Given the description of an element on the screen output the (x, y) to click on. 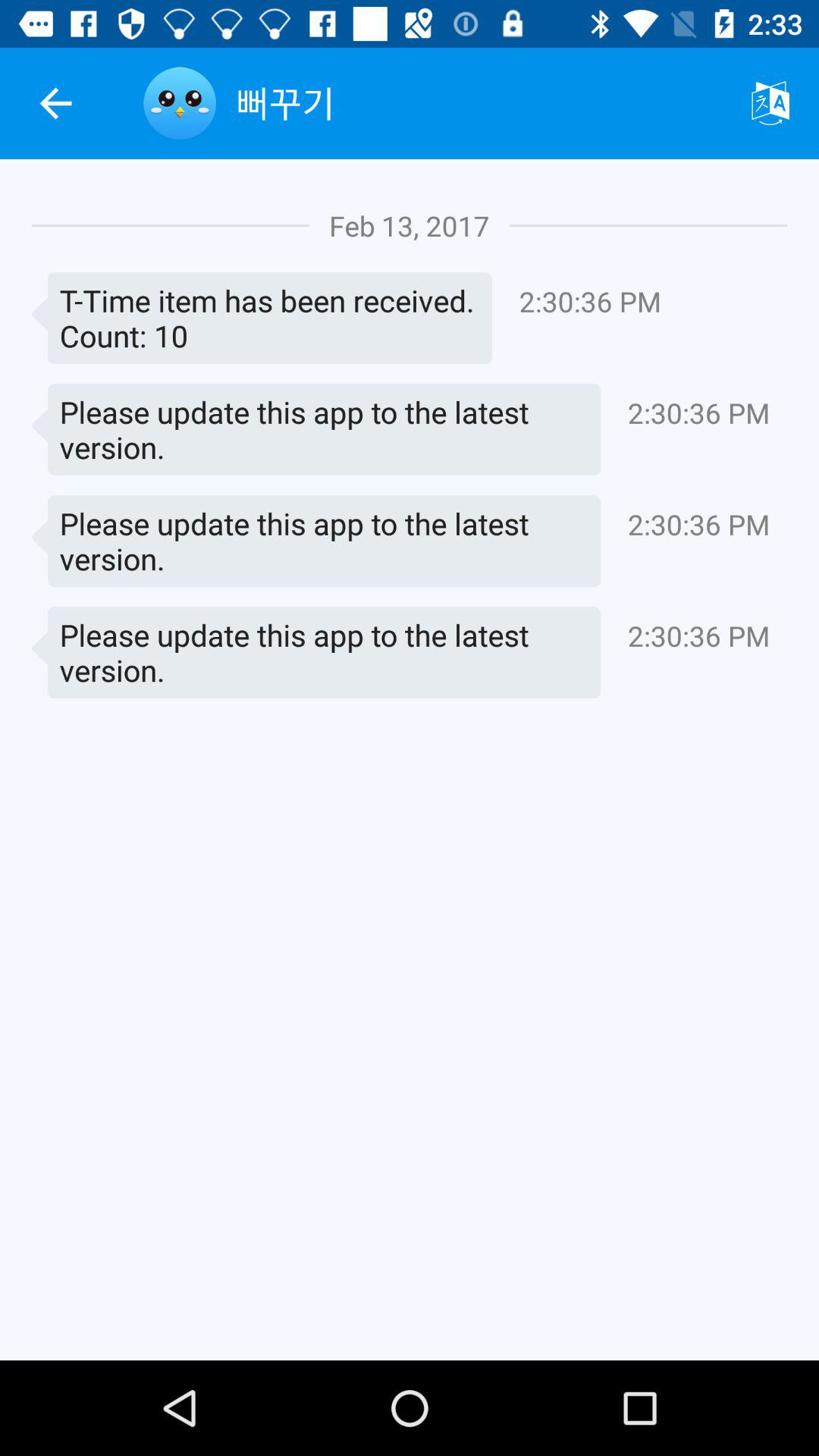
press the item to the left of the 2 30 36 (261, 318)
